Given the description of an element on the screen output the (x, y) to click on. 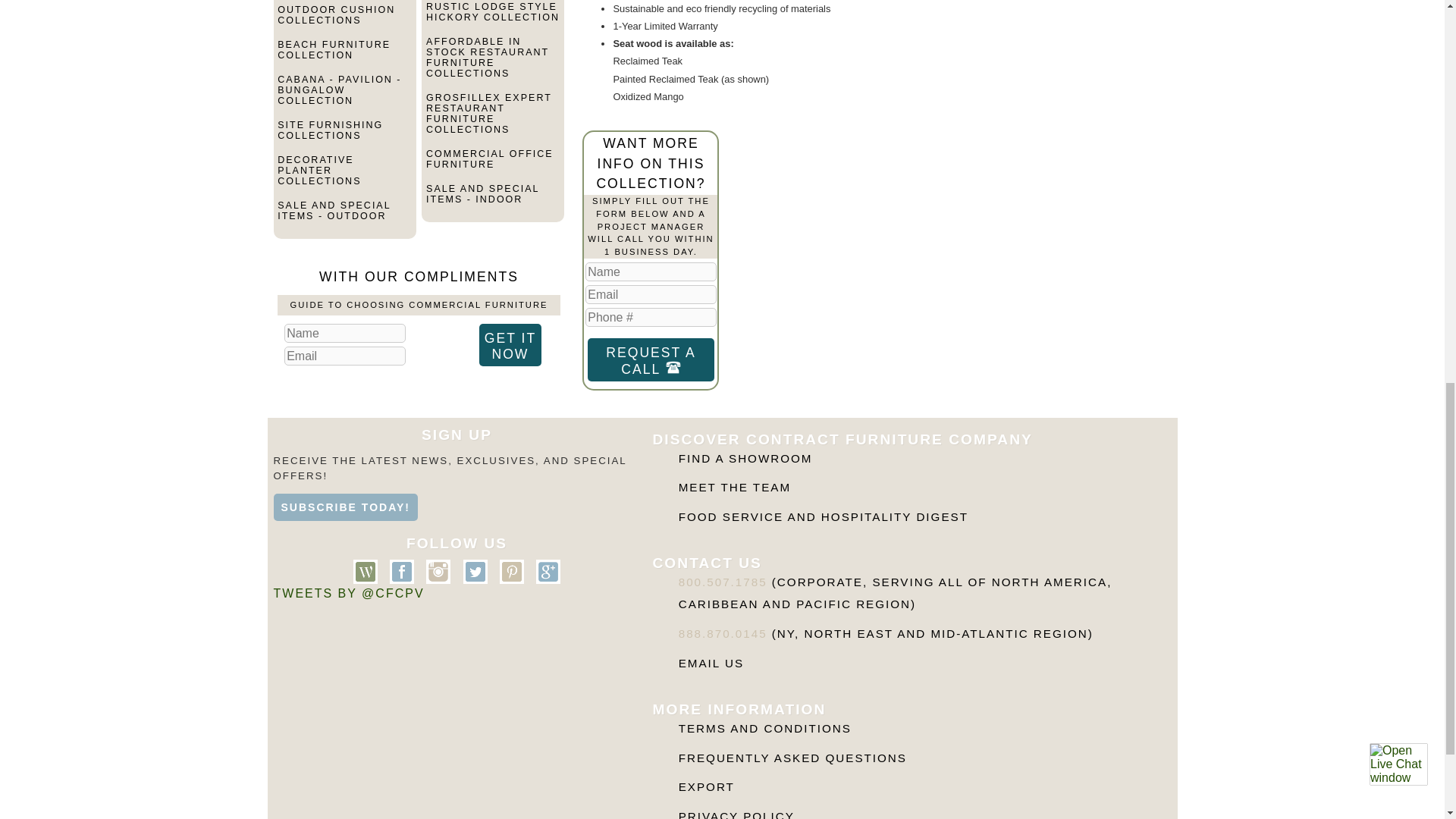
DECORATIVE PLANTER COLLECTIONS (345, 176)
CABANA - PAVILION - BUNGALOW COLLECTION (345, 96)
BEACH FURNITURE COLLECTION (345, 56)
OUTDOOR CUSHION COLLECTIONS (345, 21)
SALE AND SPECIAL ITEMS - OUTDOOR (345, 216)
SITE FURNISHING COLLECTIONS (345, 136)
WOOD COMPOSITE FURNITURE COLLECTION (345, 2)
